Given the description of an element on the screen output the (x, y) to click on. 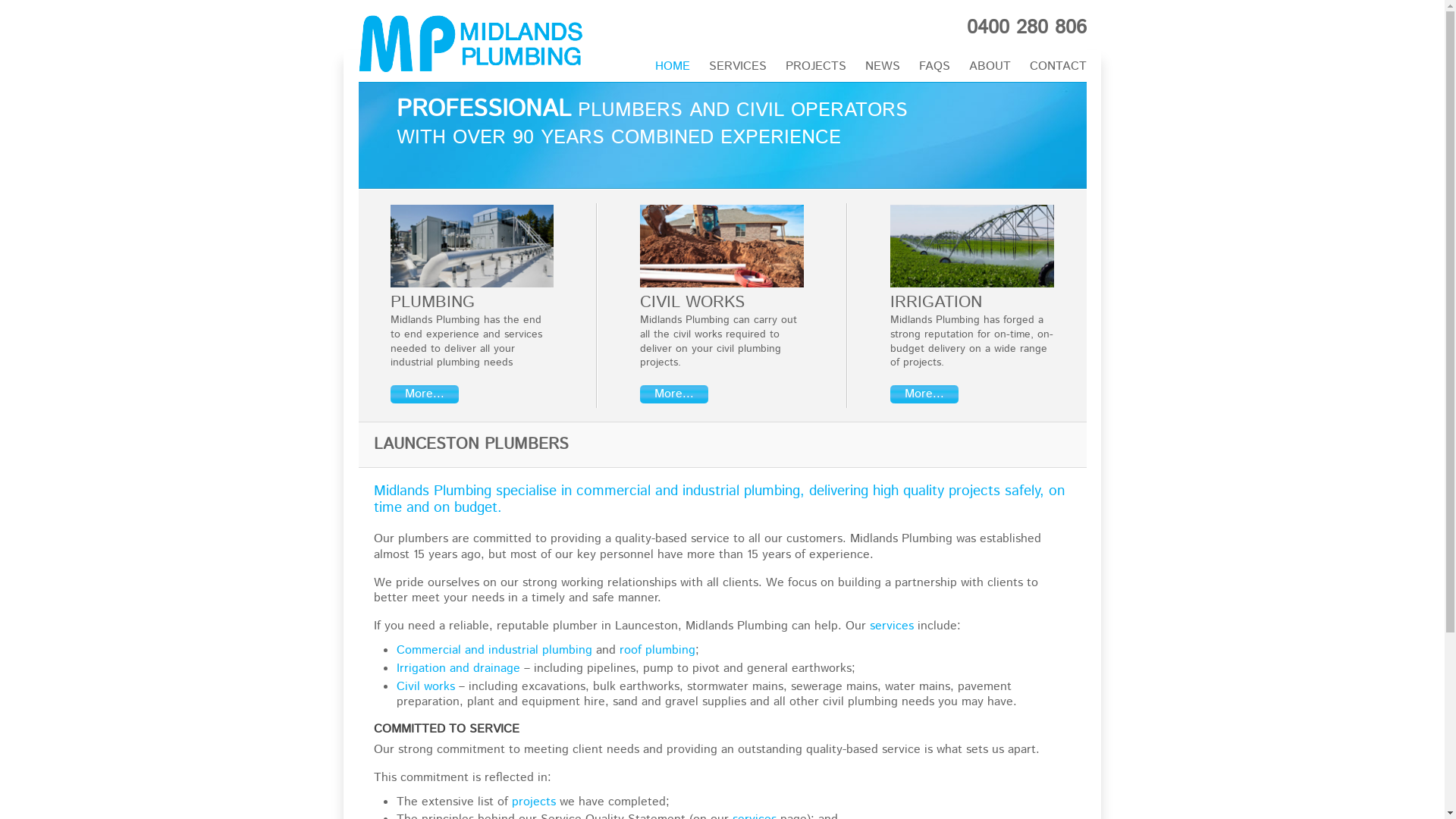
Civil works Element type: text (426, 686)
PROJECTS Element type: text (815, 68)
projects Element type: text (533, 802)
HOME Element type: text (672, 68)
More... Element type: text (924, 393)
CONTACT Element type: text (1057, 68)
Commercial and industrial plumbing Element type: text (495, 650)
More... Element type: text (423, 393)
More... Element type: text (674, 393)
SERVICES Element type: text (736, 68)
Irrigation and drainage Element type: text (459, 668)
Midlands Plumbing Element type: text (471, 43)
roof plumbing Element type: text (656, 650)
services Element type: text (892, 626)
FAQS Element type: text (934, 68)
ABOUT Element type: text (989, 68)
NEWS Element type: text (881, 68)
